Given the description of an element on the screen output the (x, y) to click on. 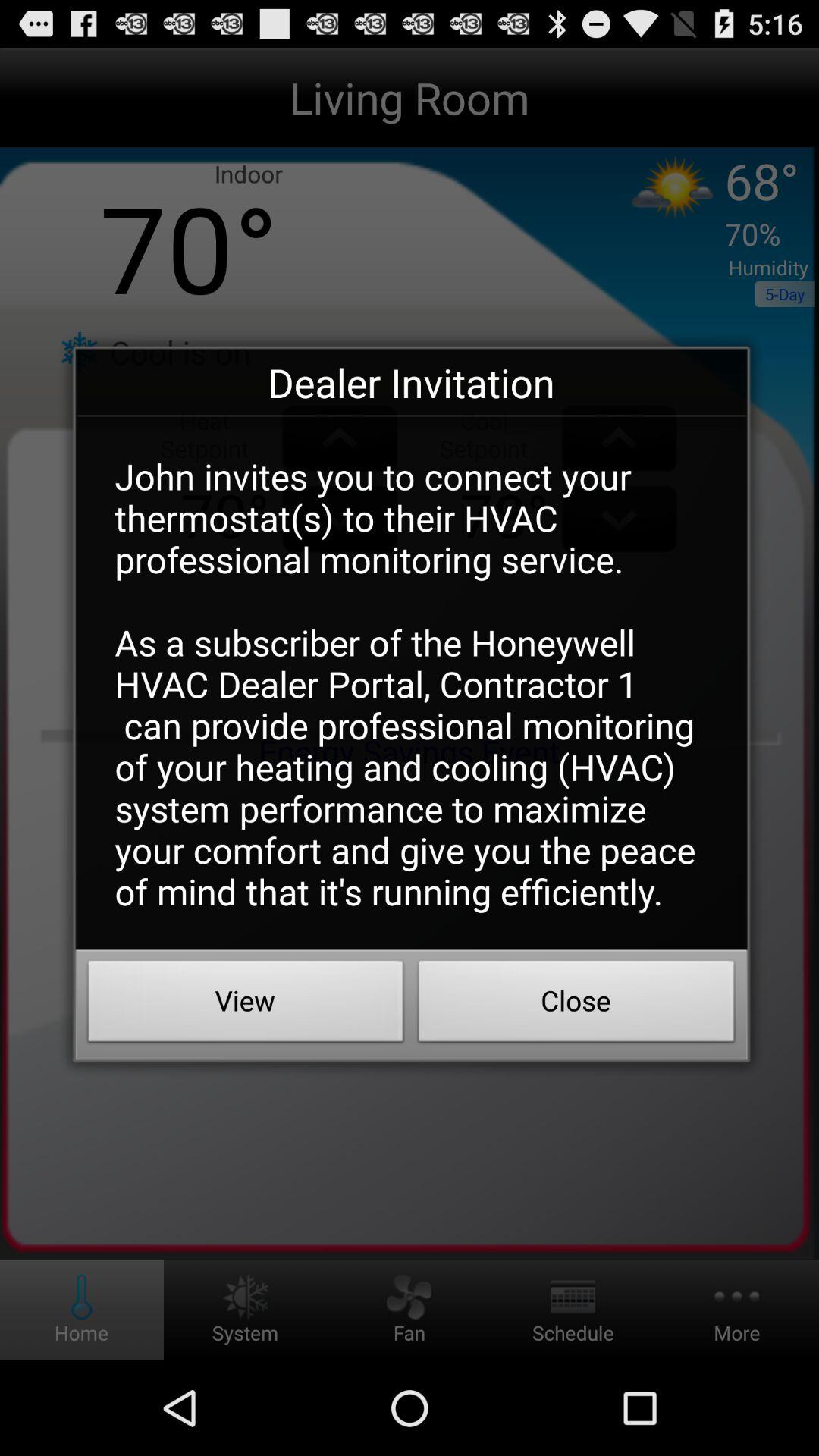
click the item next to the view (576, 1005)
